Given the description of an element on the screen output the (x, y) to click on. 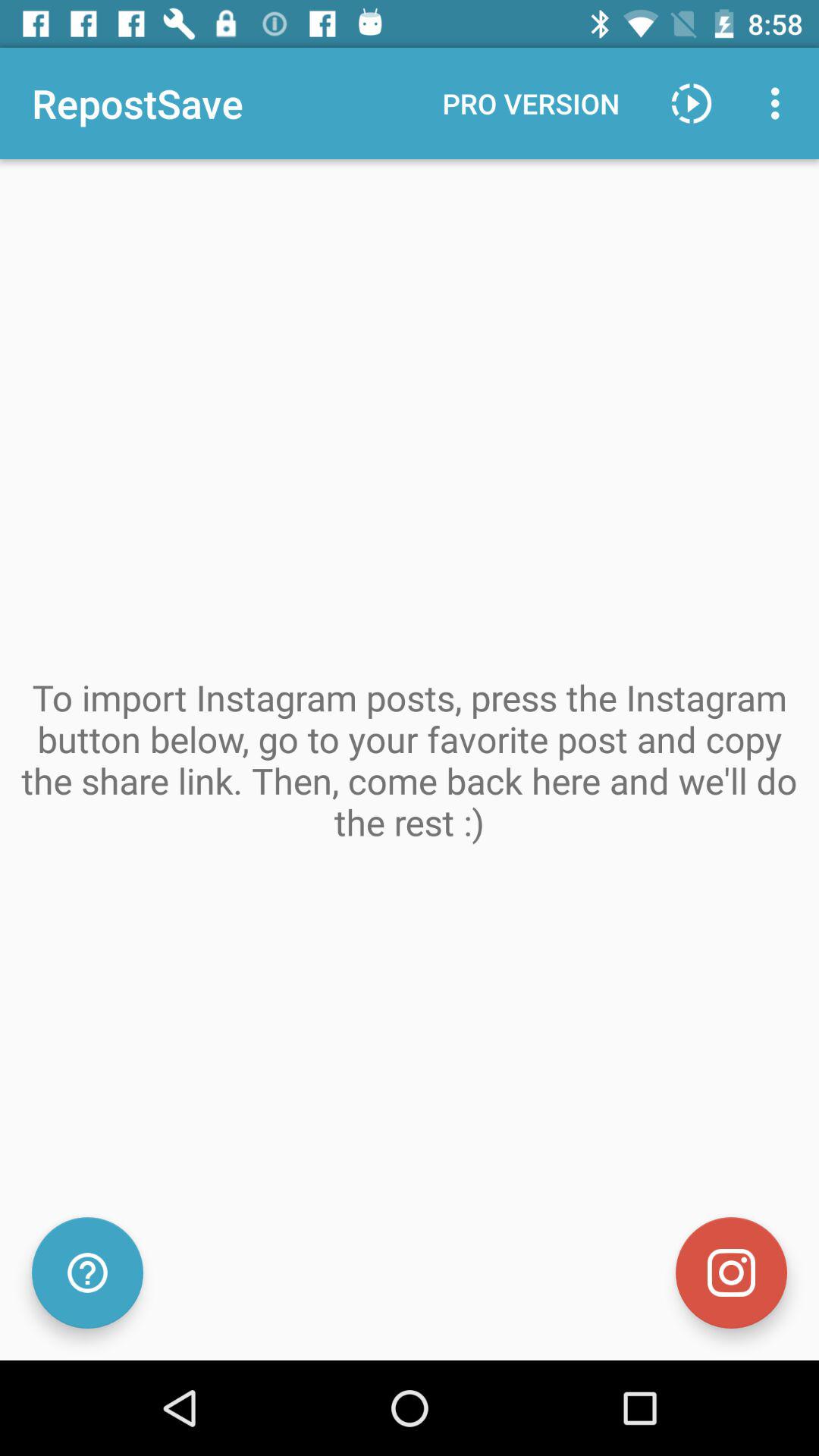
play (691, 103)
